Given the description of an element on the screen output the (x, y) to click on. 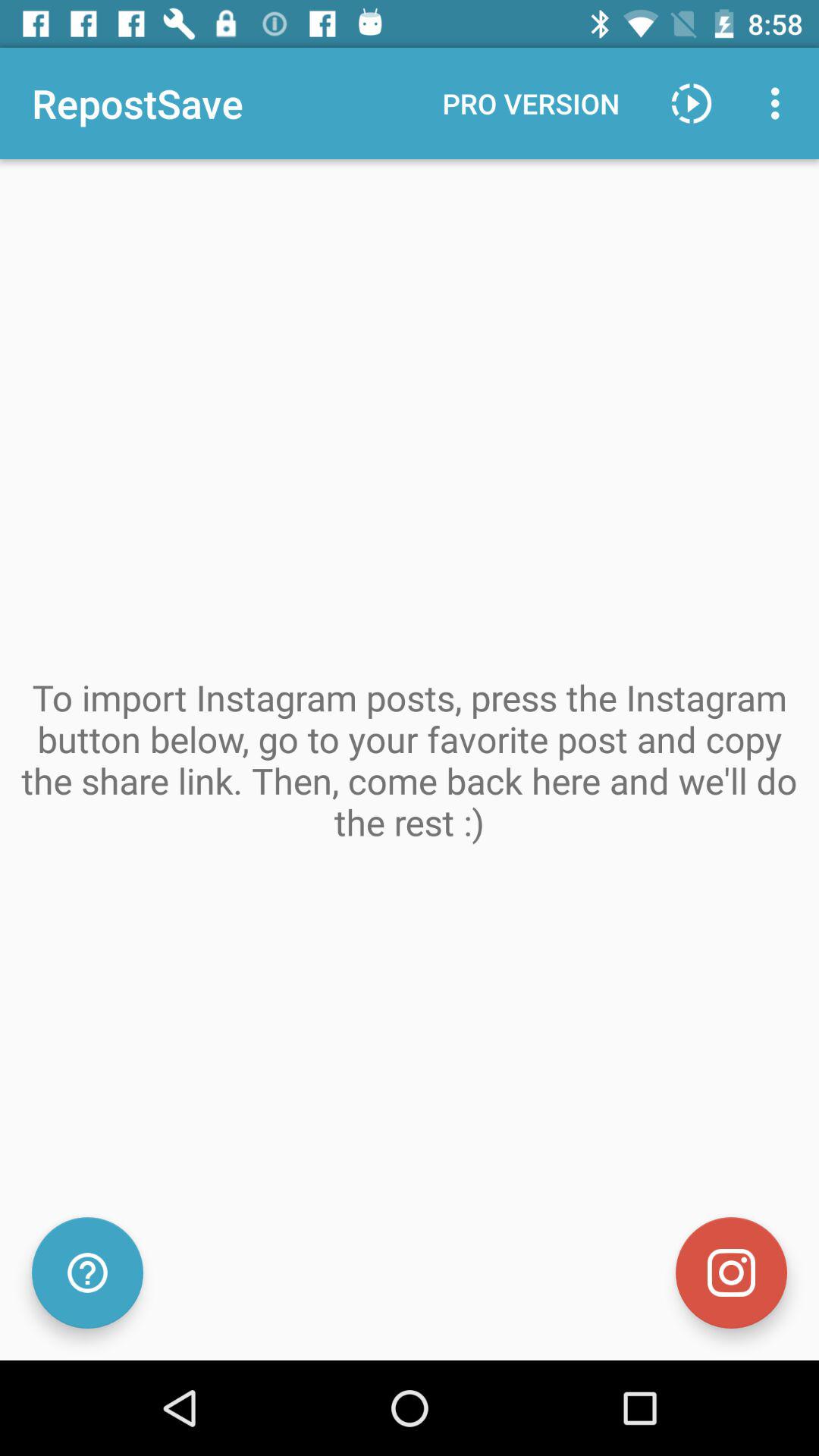
play (691, 103)
